Given the description of an element on the screen output the (x, y) to click on. 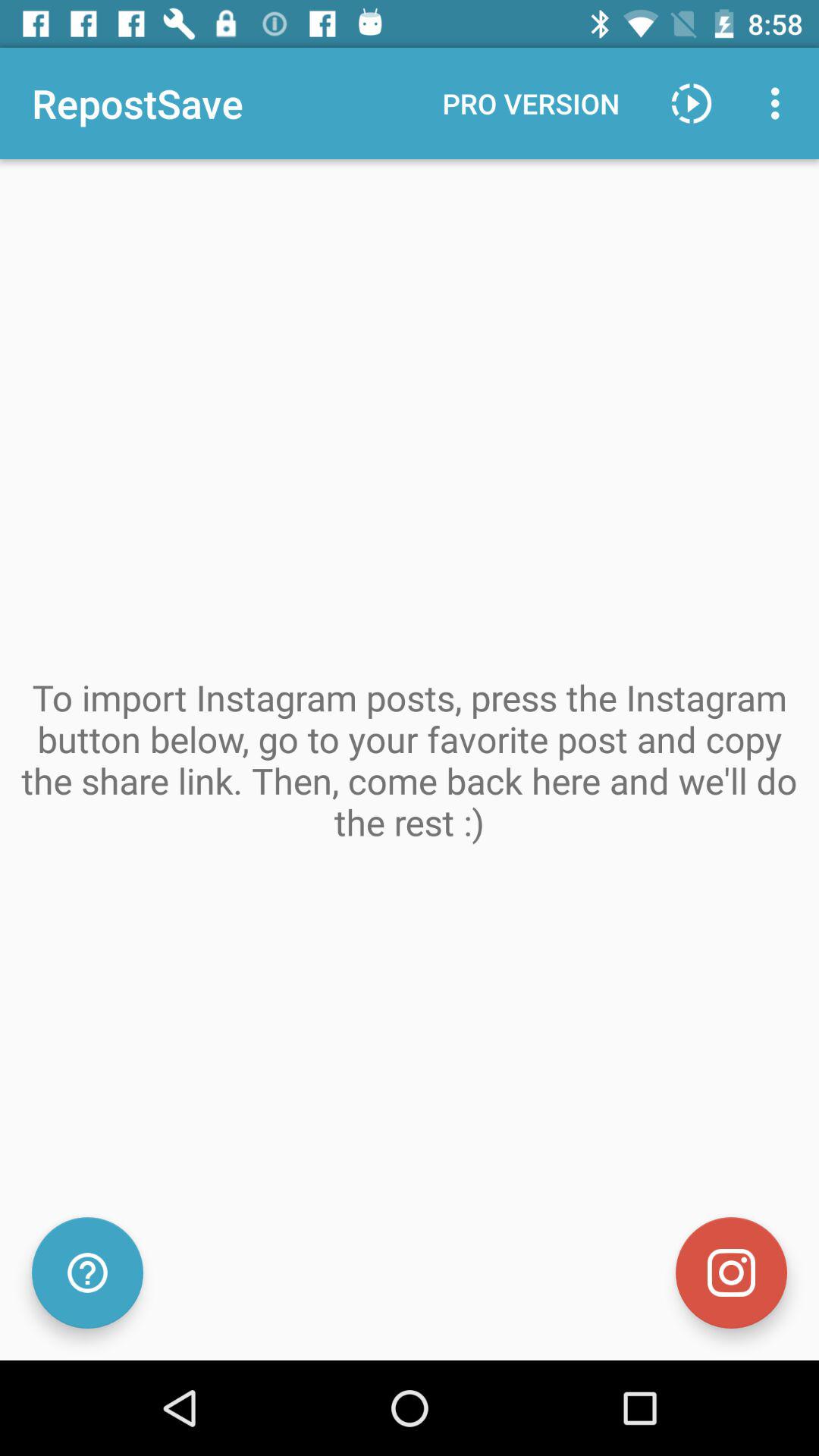
play (691, 103)
